Given the description of an element on the screen output the (x, y) to click on. 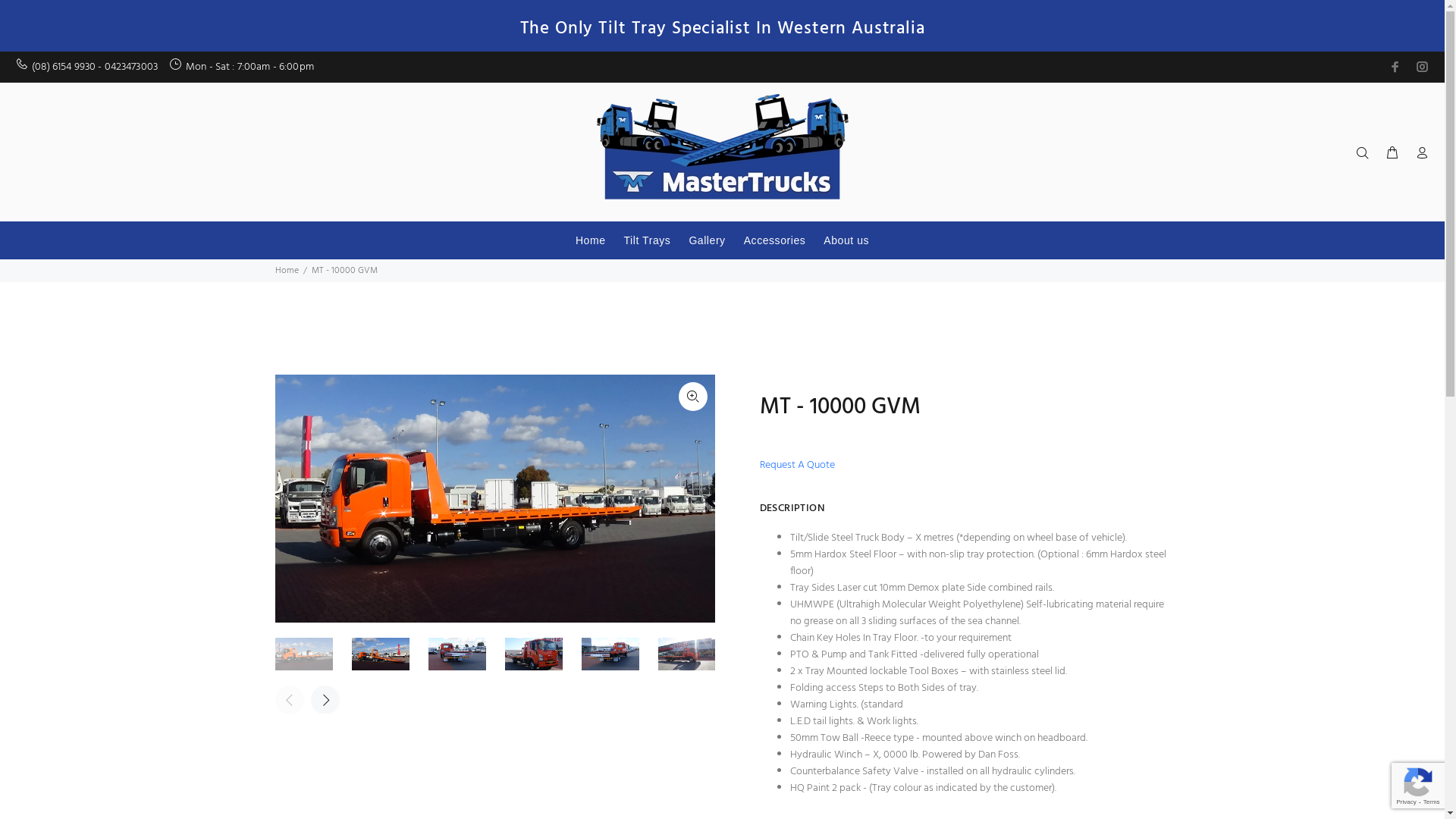
Previous Element type: text (288, 699)
Request A Quote Element type: text (801, 465)
Home Element type: text (590, 240)
Next Element type: text (324, 699)
Accessories Element type: text (774, 240)
Tilt Trays Element type: text (647, 240)
About us Element type: text (841, 240)
Home Element type: text (286, 270)
Gallery Element type: text (706, 240)
